Given the description of an element on the screen output the (x, y) to click on. 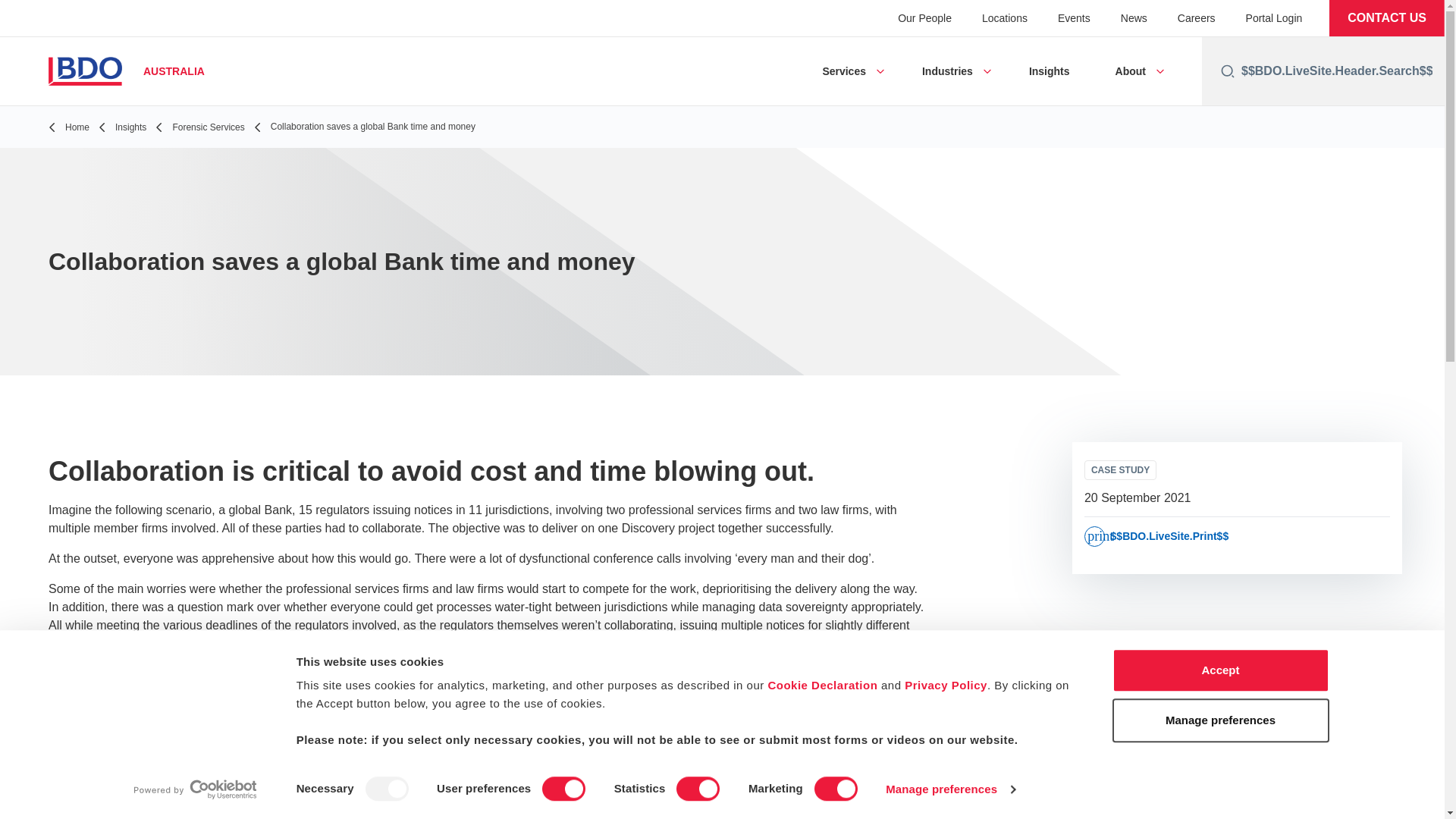
Manage preferences (949, 789)
Privacy Policy (945, 684)
Cookie Declaration (822, 684)
